Given the description of an element on the screen output the (x, y) to click on. 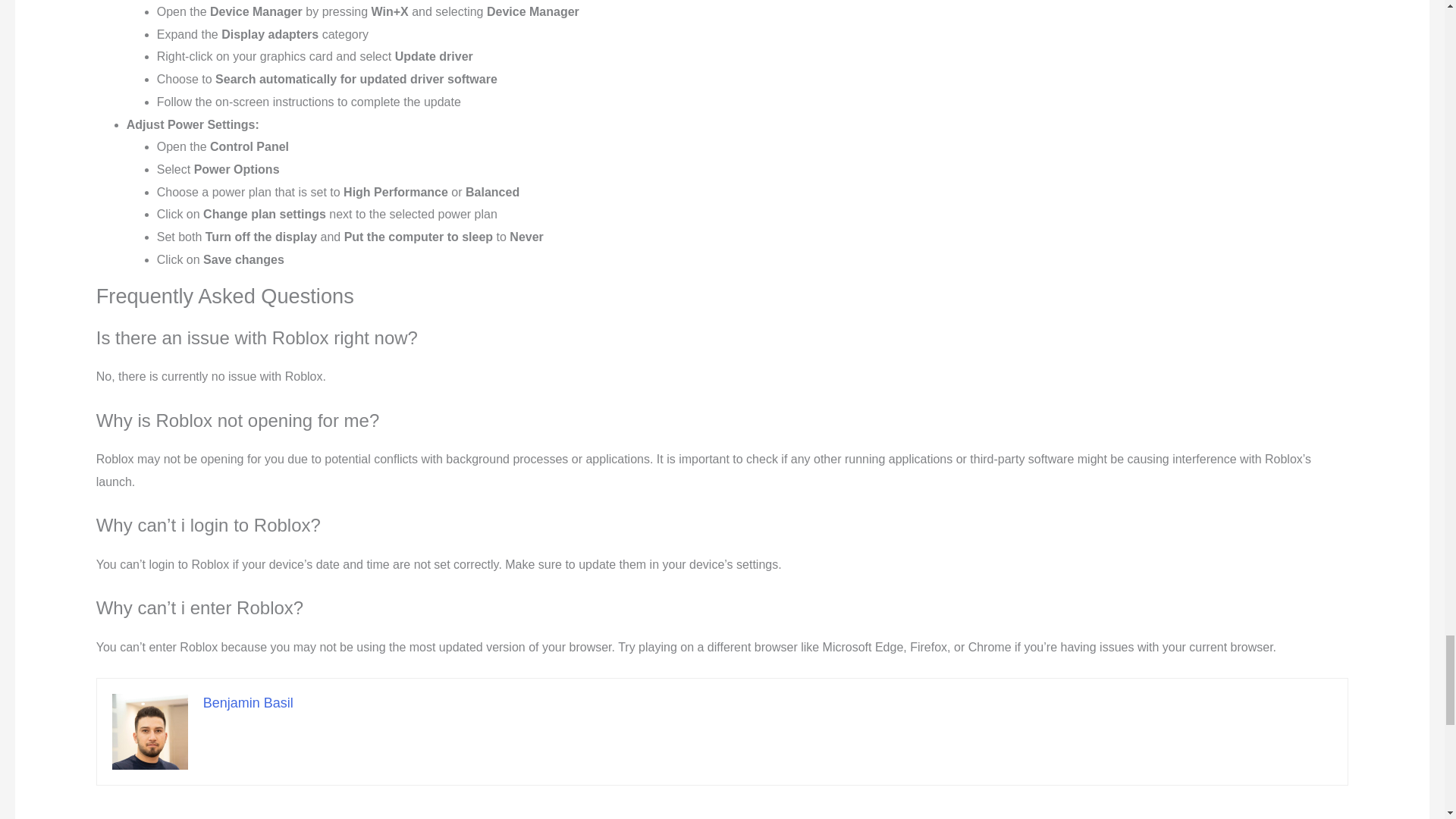
Benjamin Basil (248, 702)
